Given the description of an element on the screen output the (x, y) to click on. 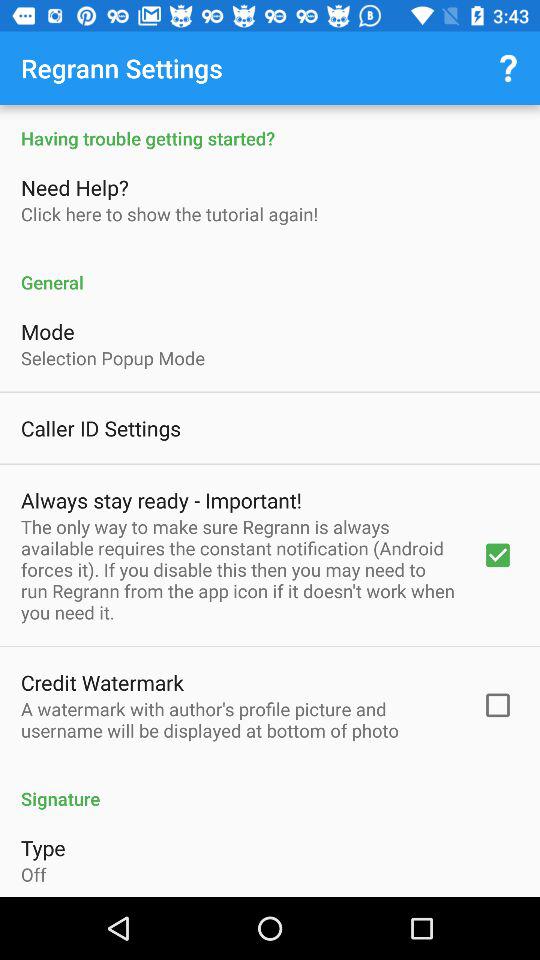
tap the icon above the only way icon (161, 500)
